Given the description of an element on the screen output the (x, y) to click on. 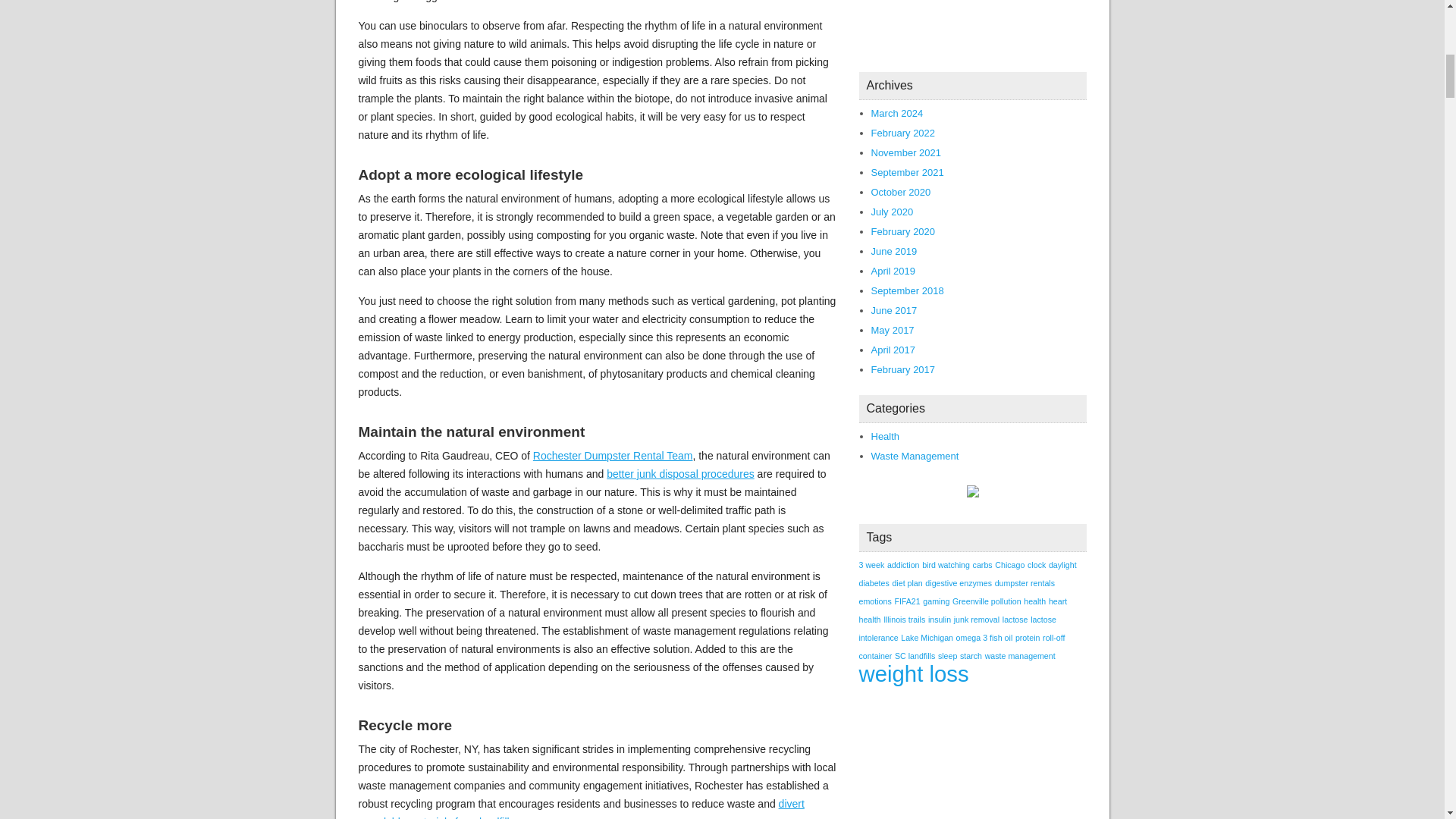
divert recyclable materials from landfills (580, 808)
Rochester Dumpster Rental Team (612, 455)
better junk disposal procedures (680, 473)
